Given the description of an element on the screen output the (x, y) to click on. 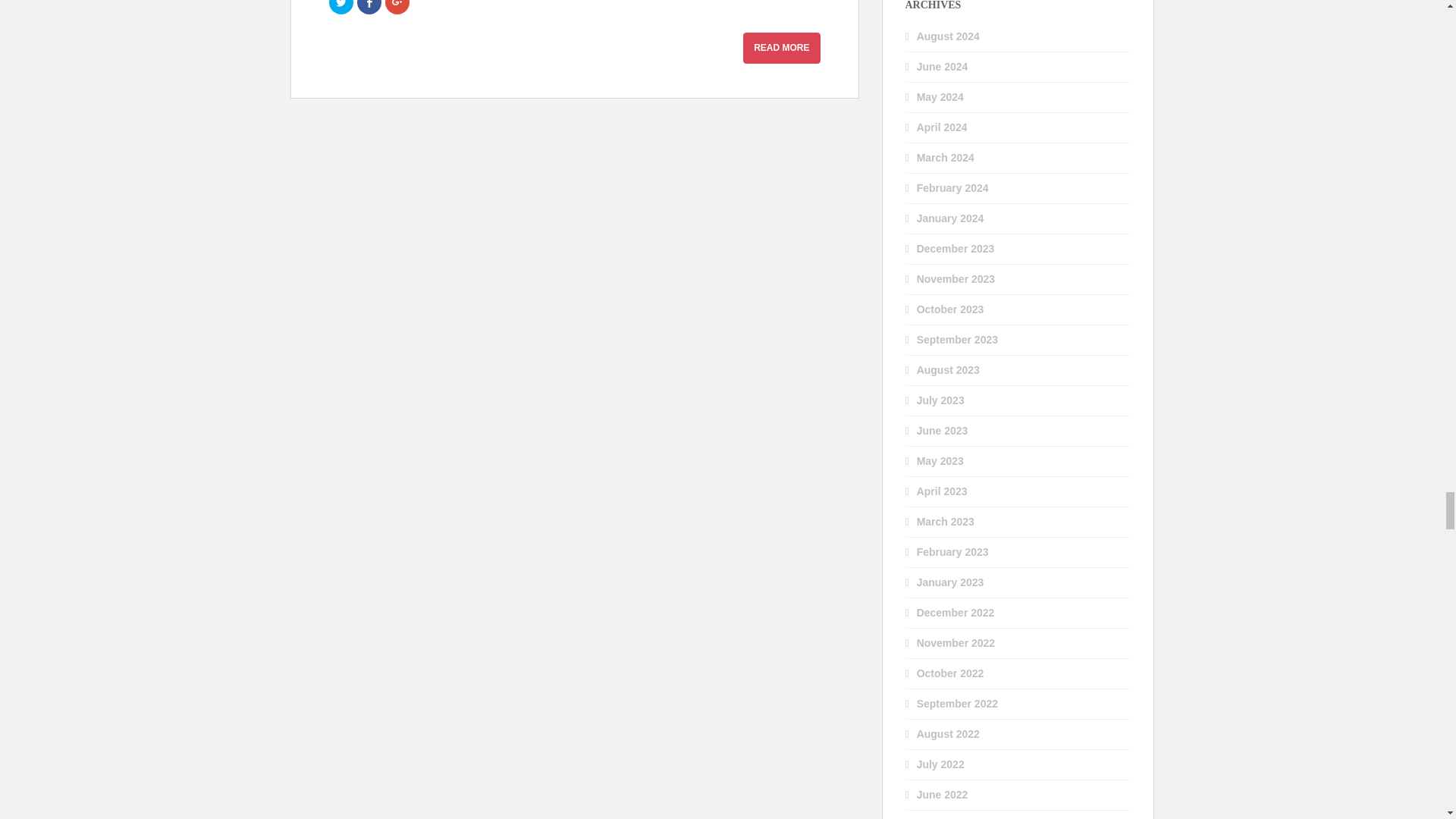
Click to share on Twitter (341, 7)
ROAD TO THE MALL: ALL PLANS REVEALED (780, 47)
READ MORE (780, 47)
Share on Facebook (368, 7)
